Given the description of an element on the screen output the (x, y) to click on. 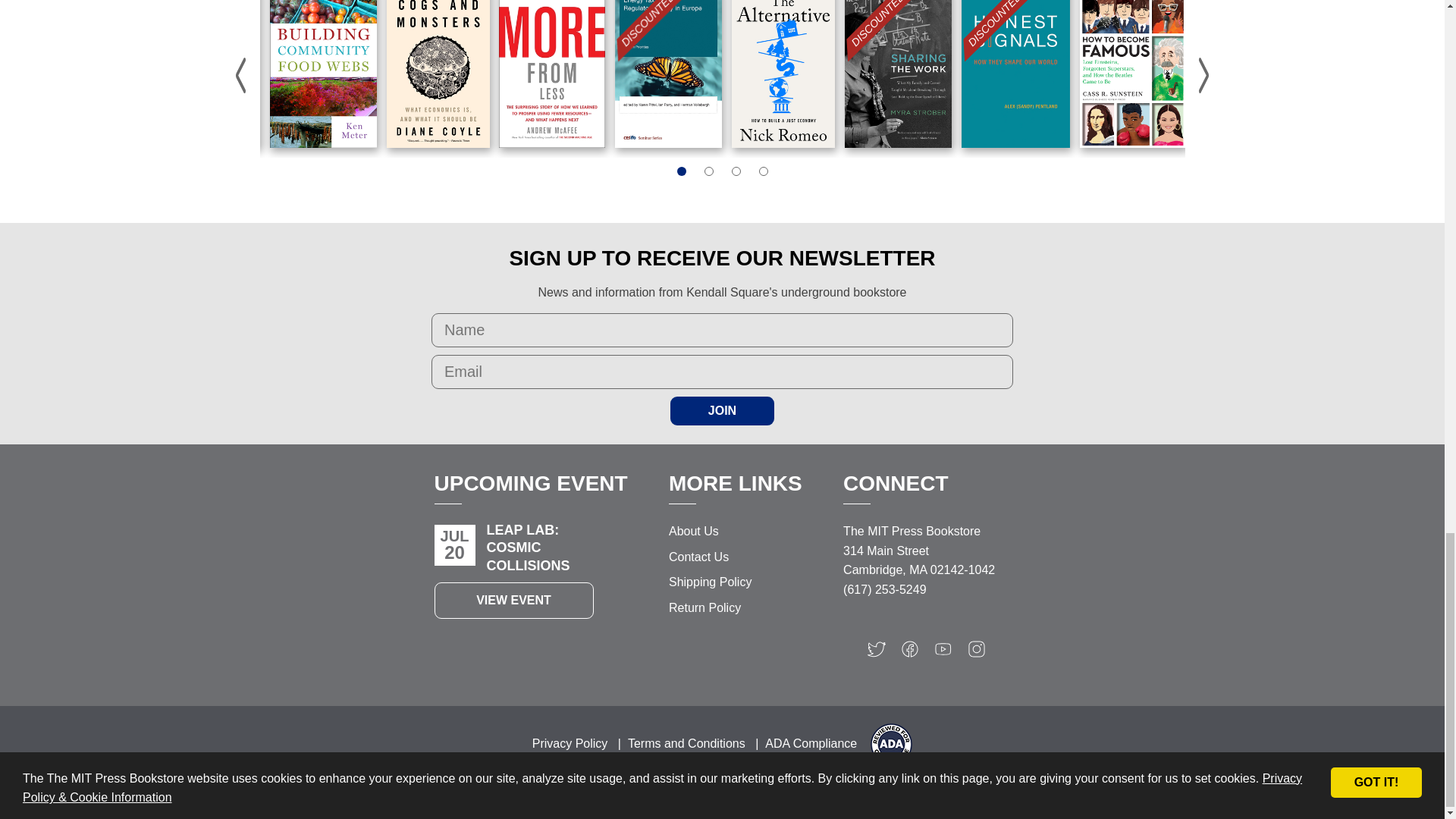
Join (721, 410)
